Given the description of an element on the screen output the (x, y) to click on. 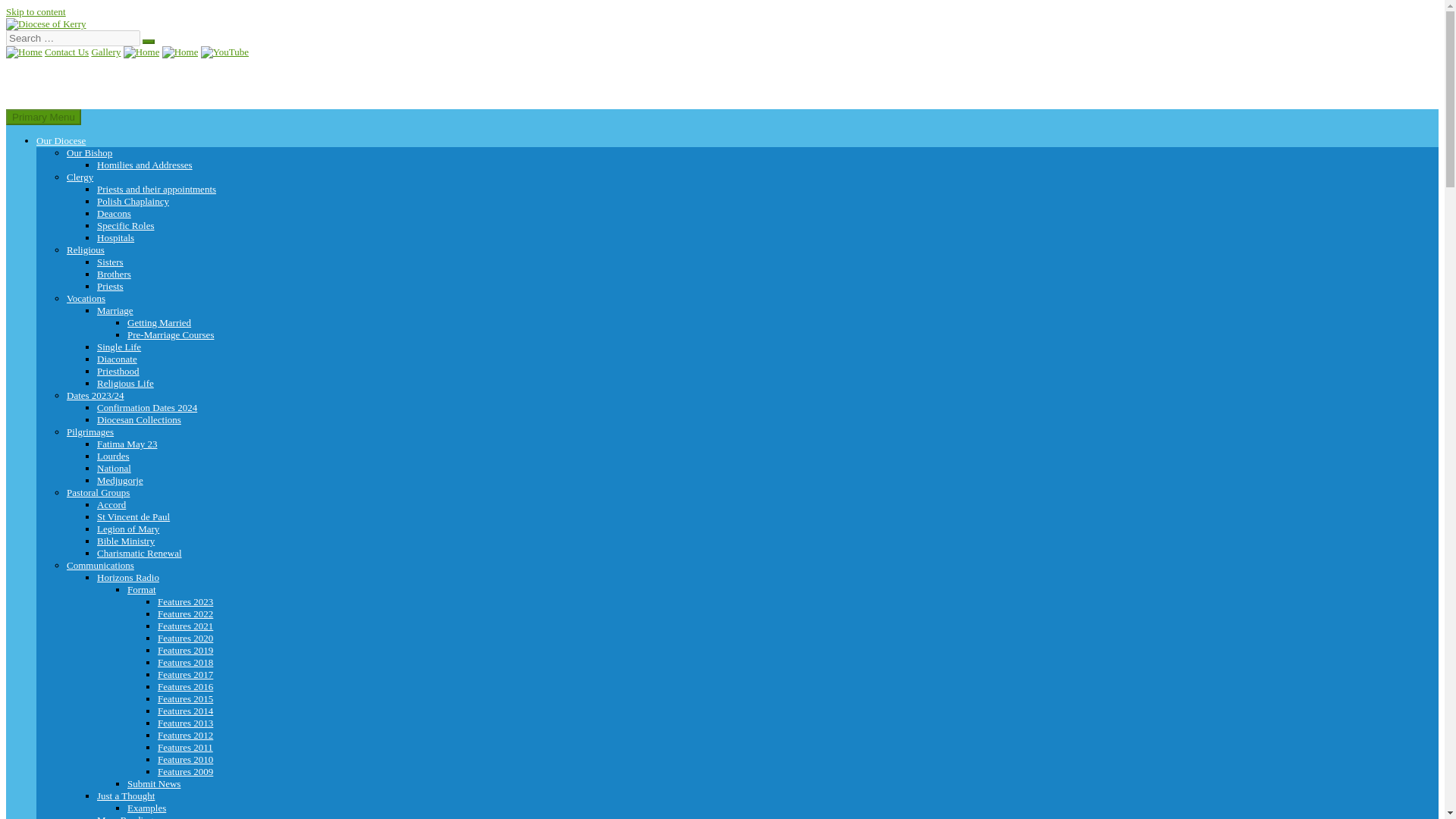
Diocesan Collections (138, 419)
Vocations (85, 297)
Clergy (79, 176)
Search for: (72, 37)
Pilgrimages (89, 431)
Deacons (114, 213)
Hospitals (115, 237)
Homilies and Addresses (144, 164)
Marriage (115, 310)
Lourdes (113, 455)
Medjugorje (119, 480)
Priests (110, 285)
Our Bishop (89, 152)
Gallery (105, 51)
National (114, 468)
